Given the description of an element on the screen output the (x, y) to click on. 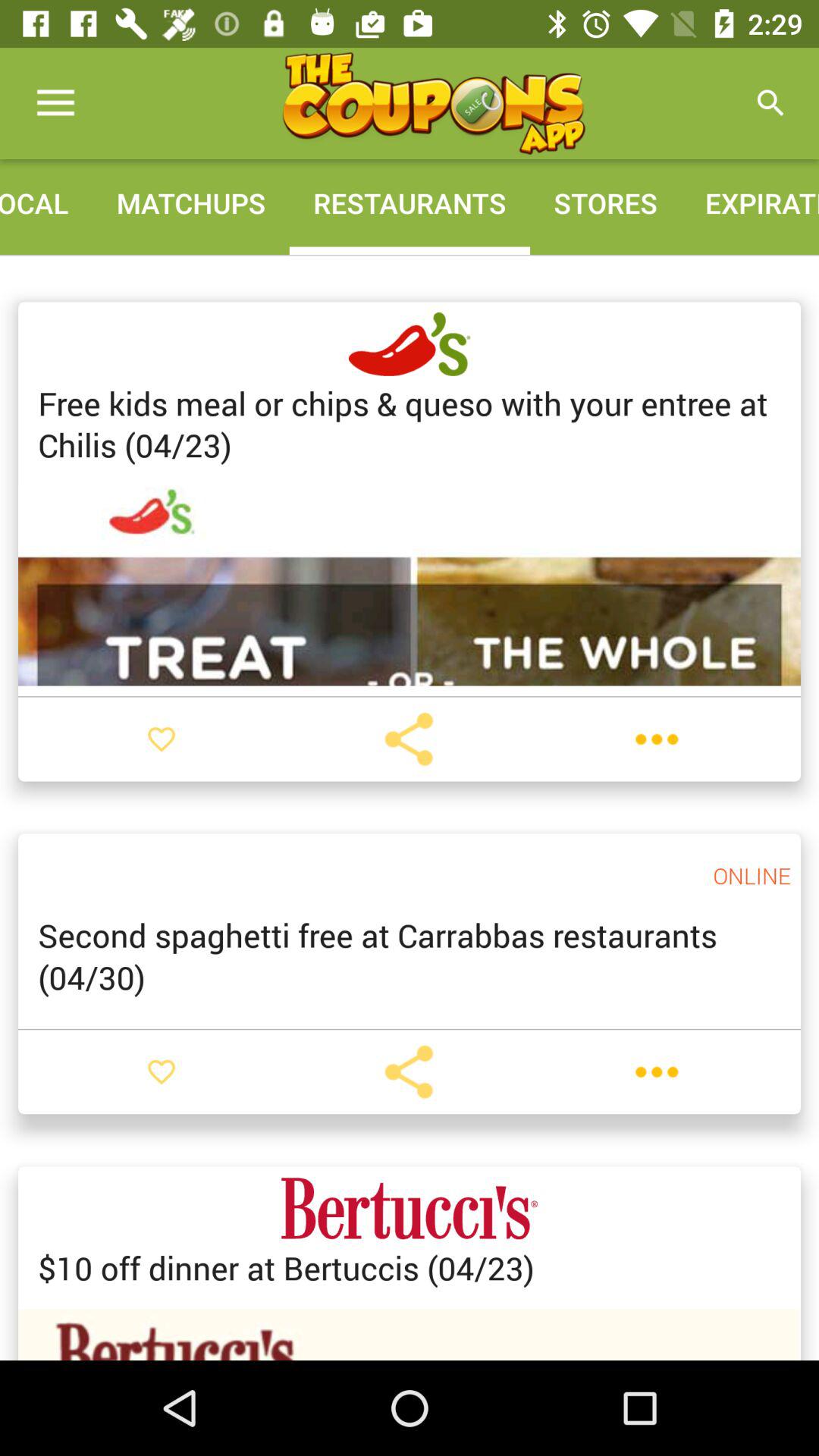
launch the icon above the matchups icon (432, 103)
